Given the description of an element on the screen output the (x, y) to click on. 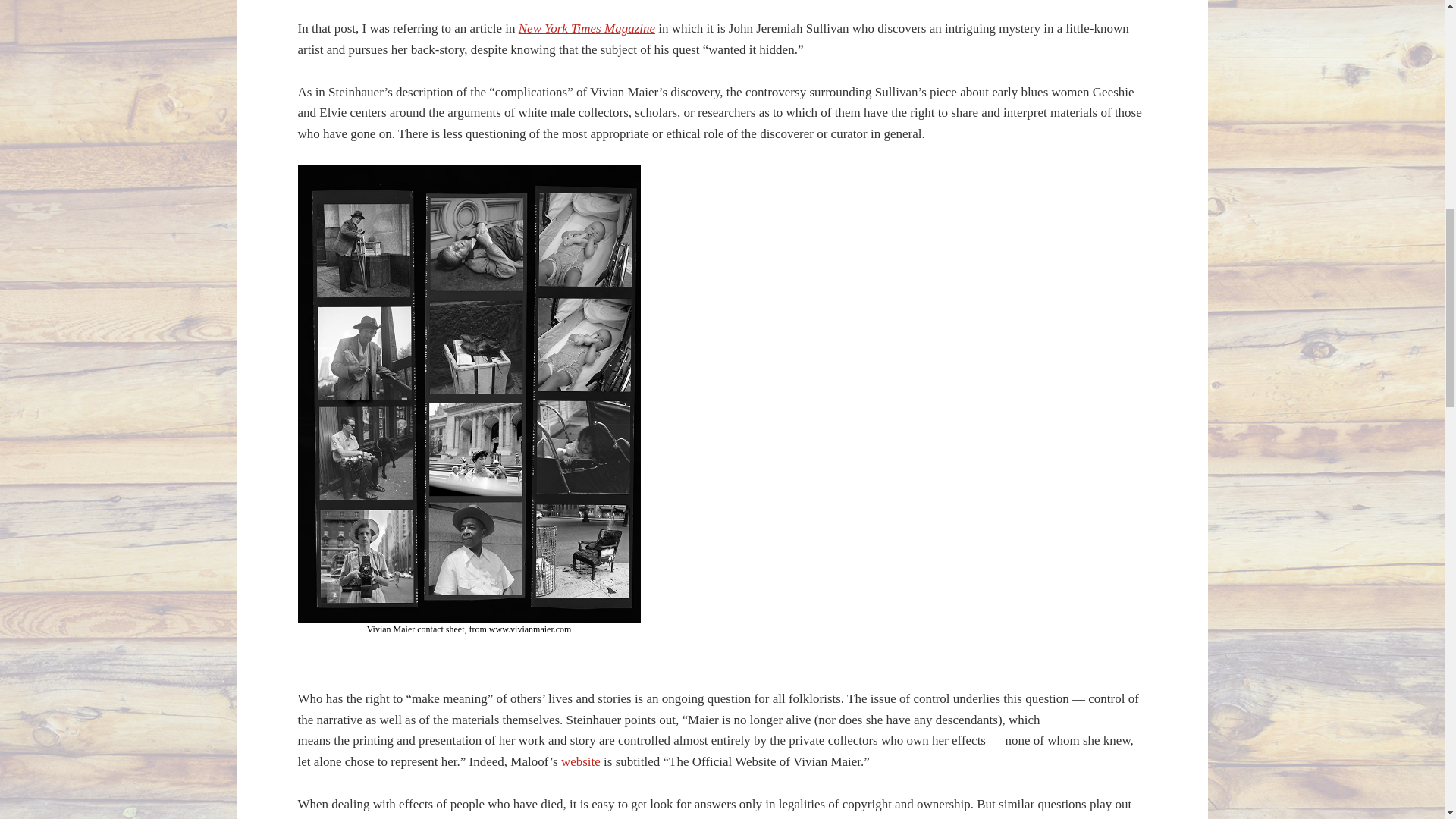
New York Times Magazine (586, 28)
website (579, 761)
